Given the description of an element on the screen output the (x, y) to click on. 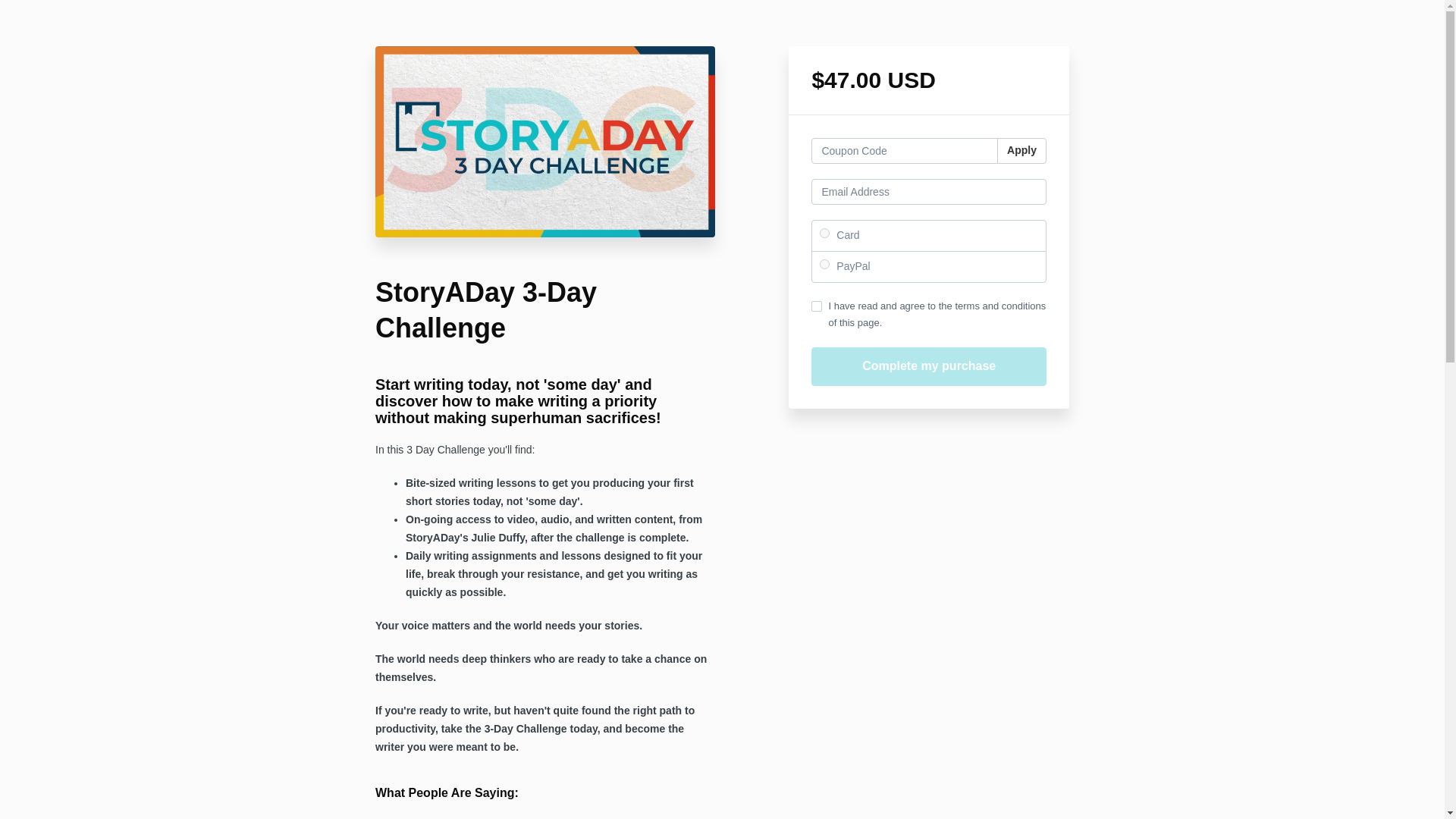
Complete my purchase (928, 366)
stripe (824, 233)
Apply (1021, 150)
paypal (824, 264)
Complete my purchase (928, 366)
1 (816, 306)
